Given the description of an element on the screen output the (x, y) to click on. 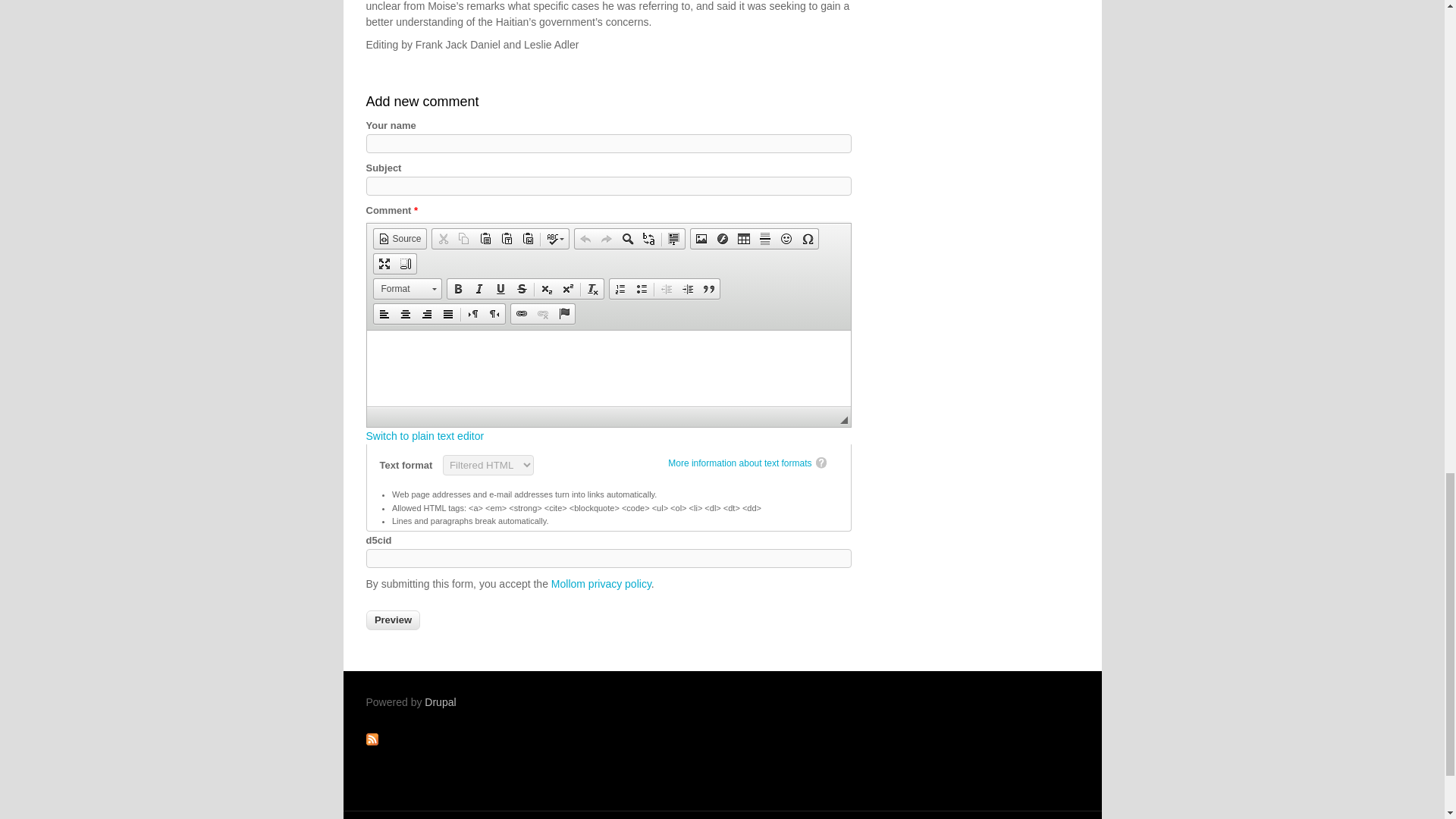
Paste (485, 238)
Paste from Word (527, 238)
Paste as plain text (506, 238)
Select All (673, 238)
Smiley (786, 238)
Copy (463, 238)
Redo (606, 238)
Table (743, 238)
